Given the description of an element on the screen output the (x, y) to click on. 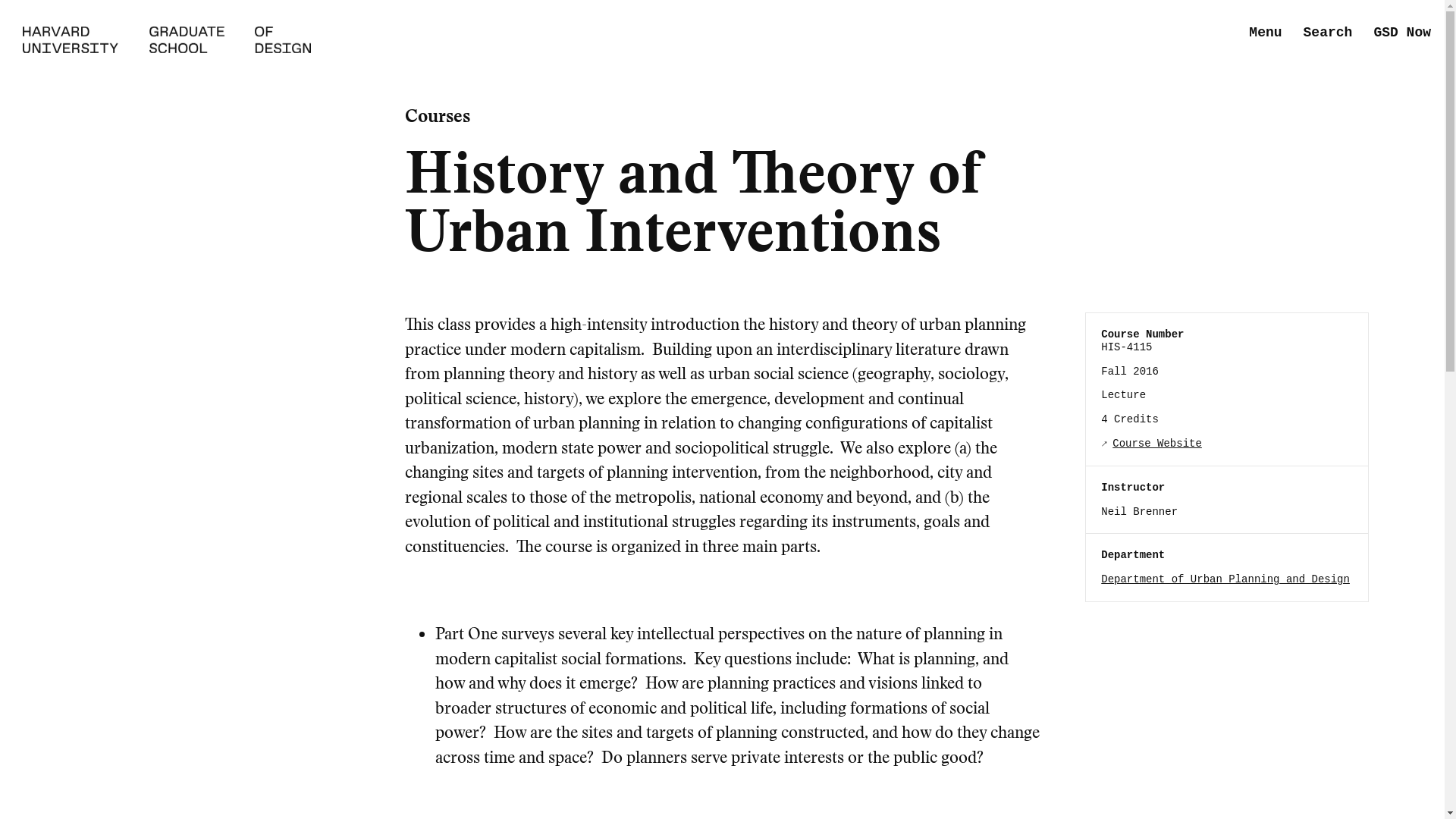
Menu (1265, 32)
GSD Now (1402, 32)
Search (1327, 32)
